Given the description of an element on the screen output the (x, y) to click on. 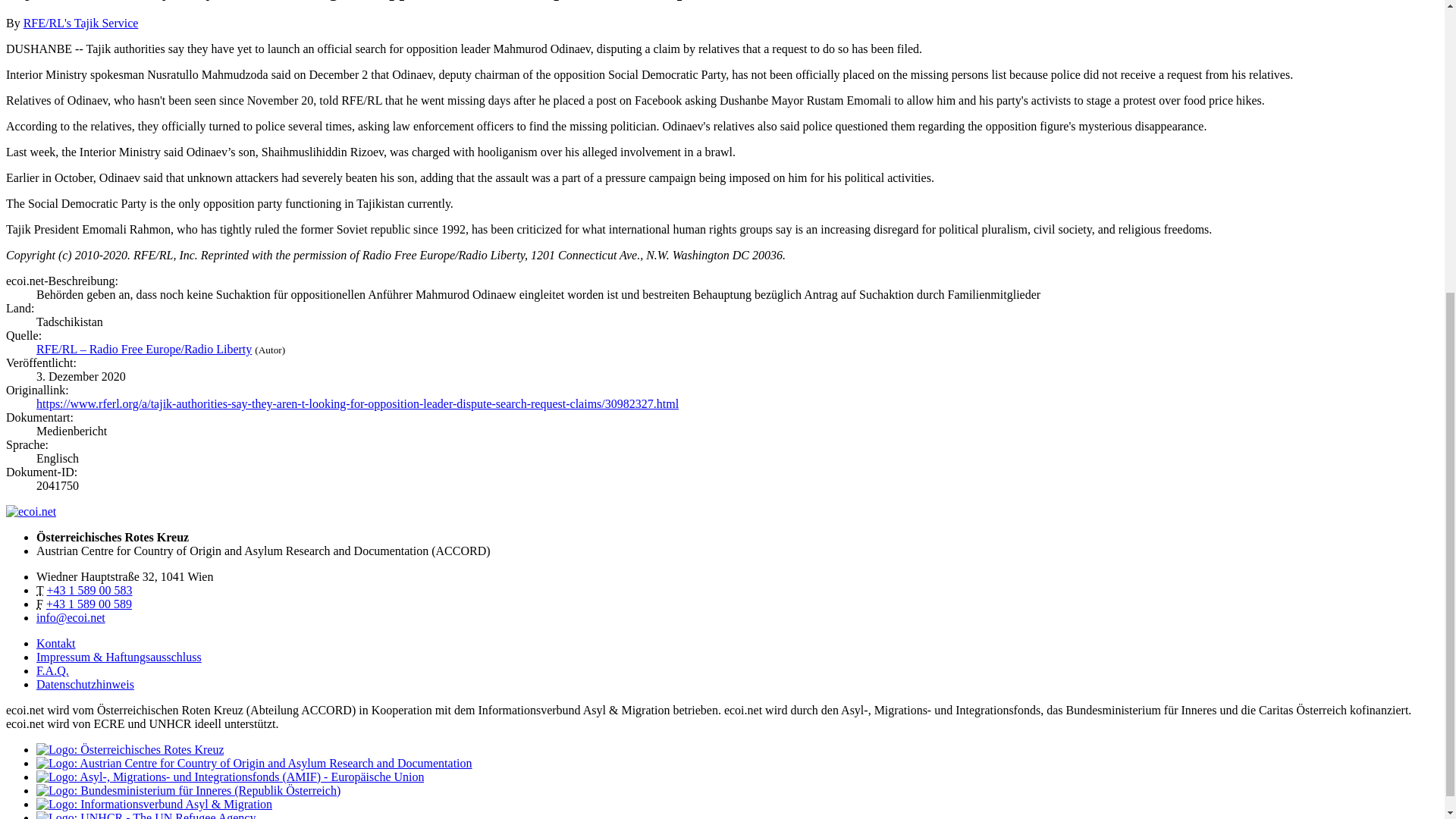
Datenschutzhinweis (84, 684)
Fax (89, 603)
Kontakt (55, 643)
Quellenbeschreibung lesen (143, 349)
Telefon (89, 590)
F.A.Q. (52, 670)
